Given the description of an element on the screen output the (x, y) to click on. 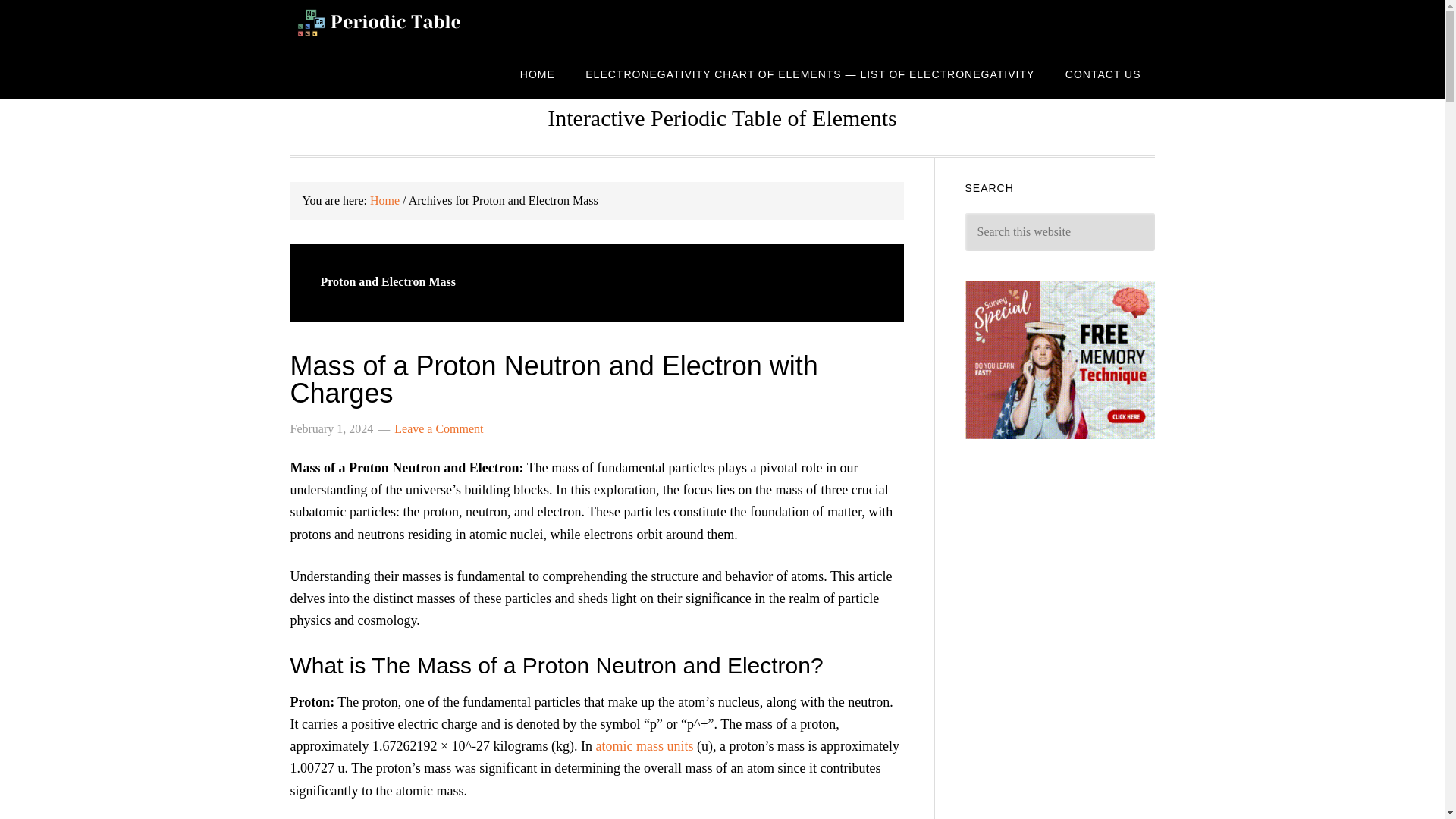
atomic mass units (644, 745)
Leave a Comment (438, 428)
HOME (537, 73)
DYNAMIC PERIODIC TABLE OF ELEMENTS AND CHEMISTRY (410, 24)
Home (383, 200)
Mass of a Proton Neutron and Electron with Charges (552, 379)
CONTACT US (1102, 73)
